Given the description of an element on the screen output the (x, y) to click on. 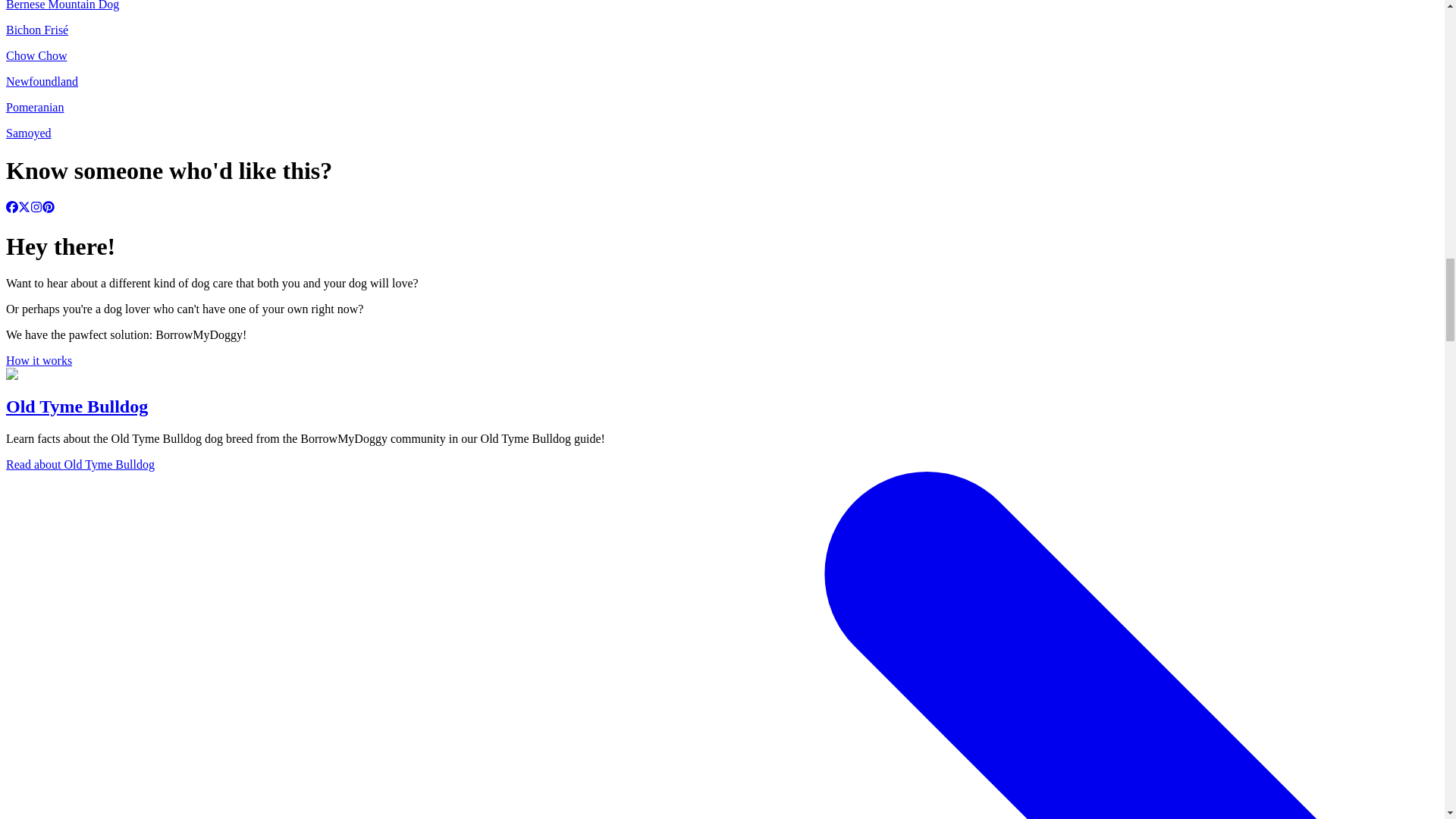
Samoyed (27, 132)
Pomeranian (34, 106)
Newfoundland (41, 81)
Chow Chow (35, 55)
How it works (38, 359)
Bernese Mountain Dog (62, 5)
